Given the description of an element on the screen output the (x, y) to click on. 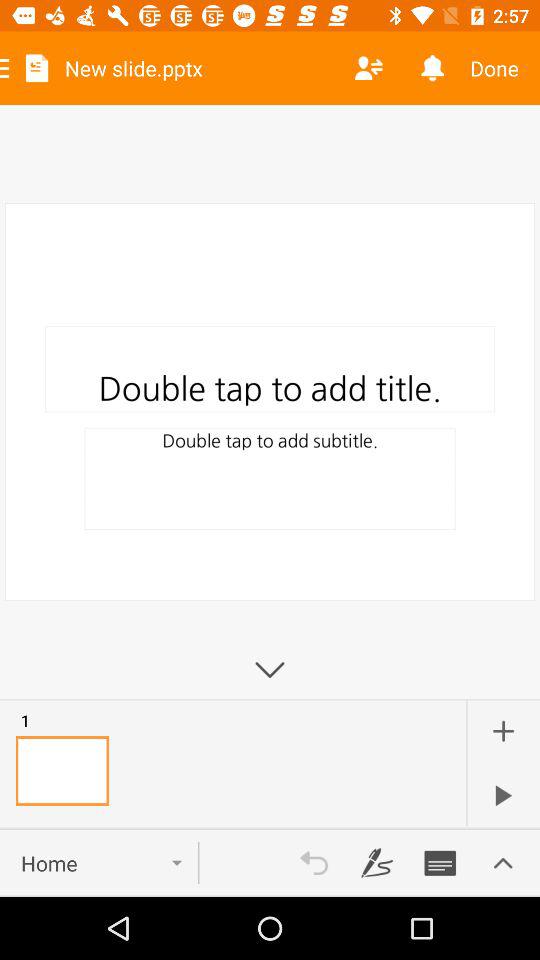
add more (503, 731)
